Given the description of an element on the screen output the (x, y) to click on. 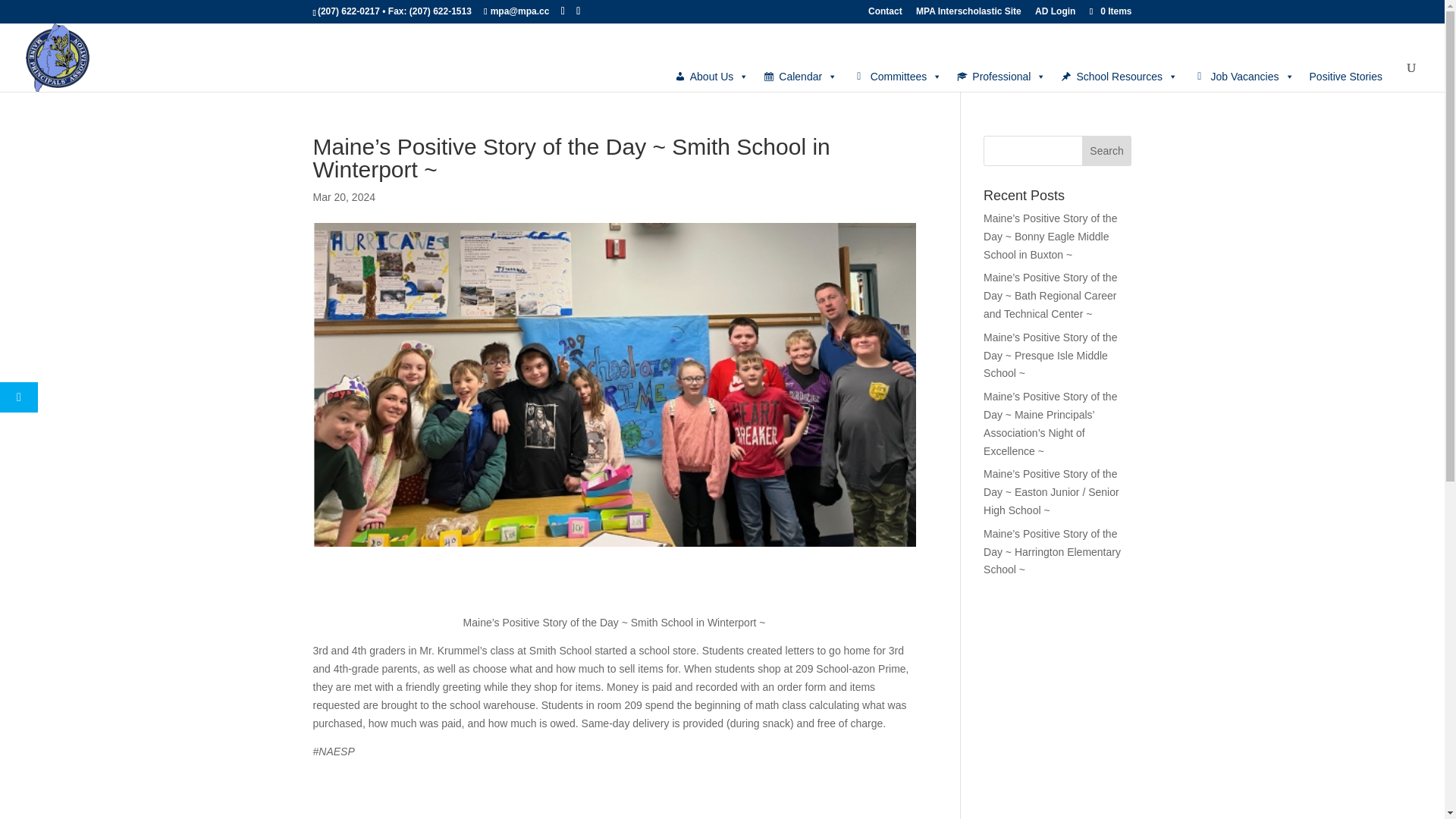
Search (1106, 150)
Calendar (799, 76)
0 Items (1108, 10)
Committees (896, 76)
MPA Interscholastic Site (968, 14)
About Us (711, 76)
Contact (884, 14)
AD Login (1055, 14)
Professional (1000, 76)
